Given the description of an element on the screen output the (x, y) to click on. 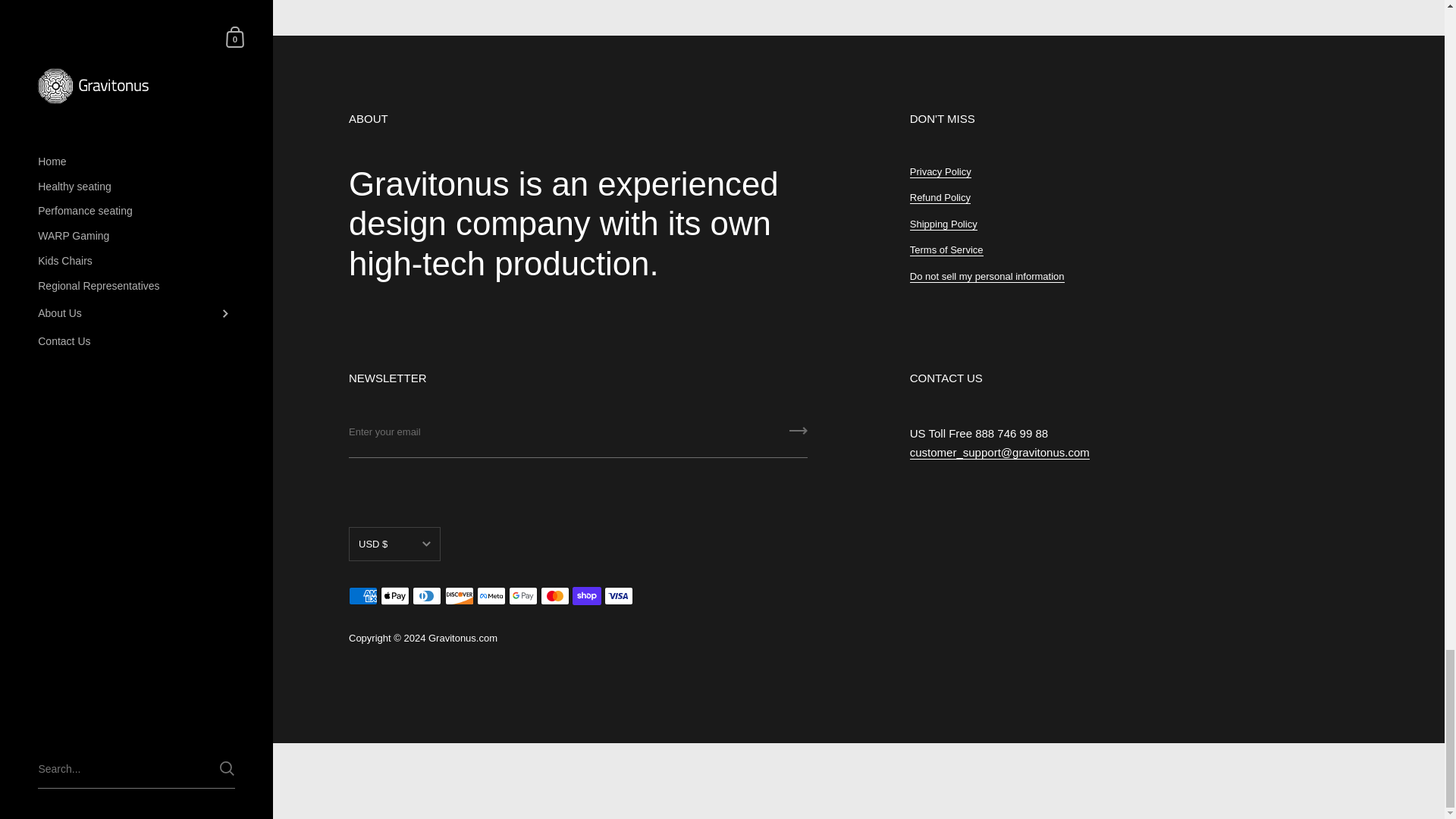
Google Pay (522, 596)
Diners Club (426, 596)
Meta Pay (491, 596)
Apple Pay (394, 596)
American Express (363, 596)
Shop Pay (586, 596)
Mastercard (554, 596)
Discover (459, 596)
Visa (618, 596)
